Given the description of an element on the screen output the (x, y) to click on. 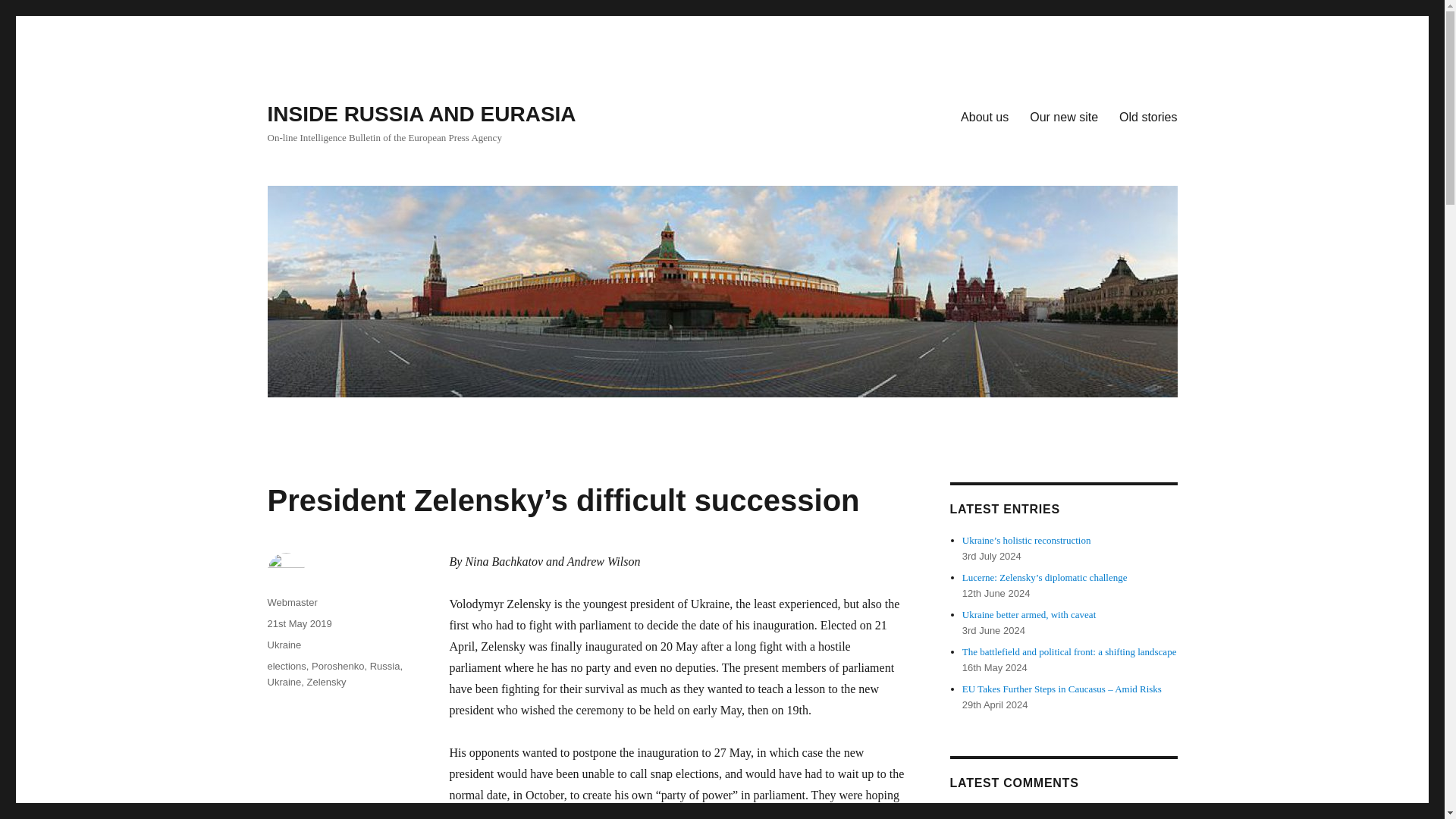
INSIDE RUSSIA AND EURASIA (420, 114)
The battlefield and political front: a shifting landscape (1069, 651)
Ukraine better armed, with caveat (1029, 614)
Russia (384, 665)
Zelensky (326, 681)
elections (285, 665)
21st May 2019 (298, 623)
About us (984, 116)
Our new site (1063, 116)
Old stories (1148, 116)
Ukraine (283, 644)
Webmaster (291, 602)
Poroshenko (337, 665)
Ukraine (283, 681)
